Given the description of an element on the screen output the (x, y) to click on. 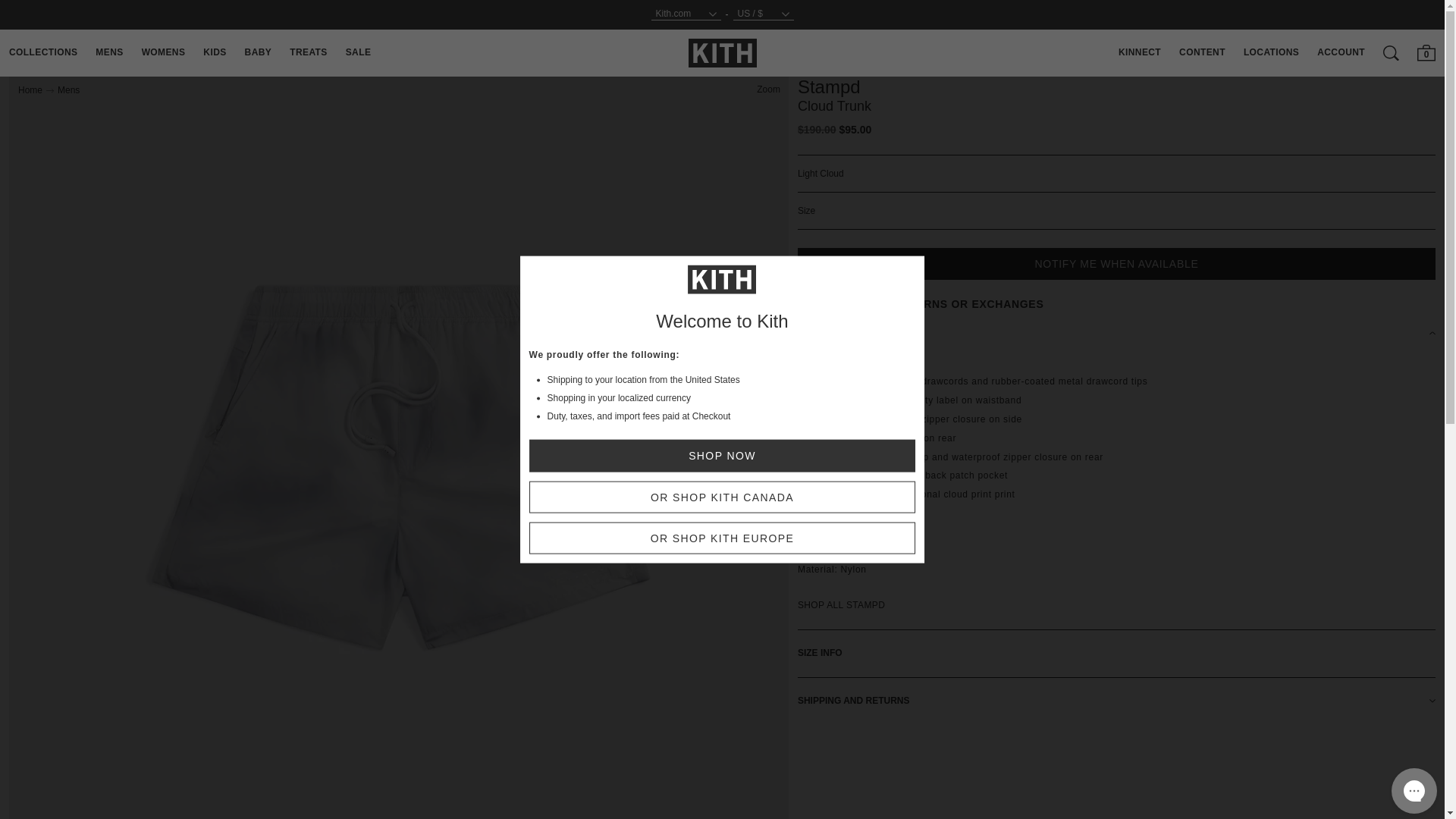
KITH LOGO (722, 52)
Kith (722, 52)
